Given the description of an element on the screen output the (x, y) to click on. 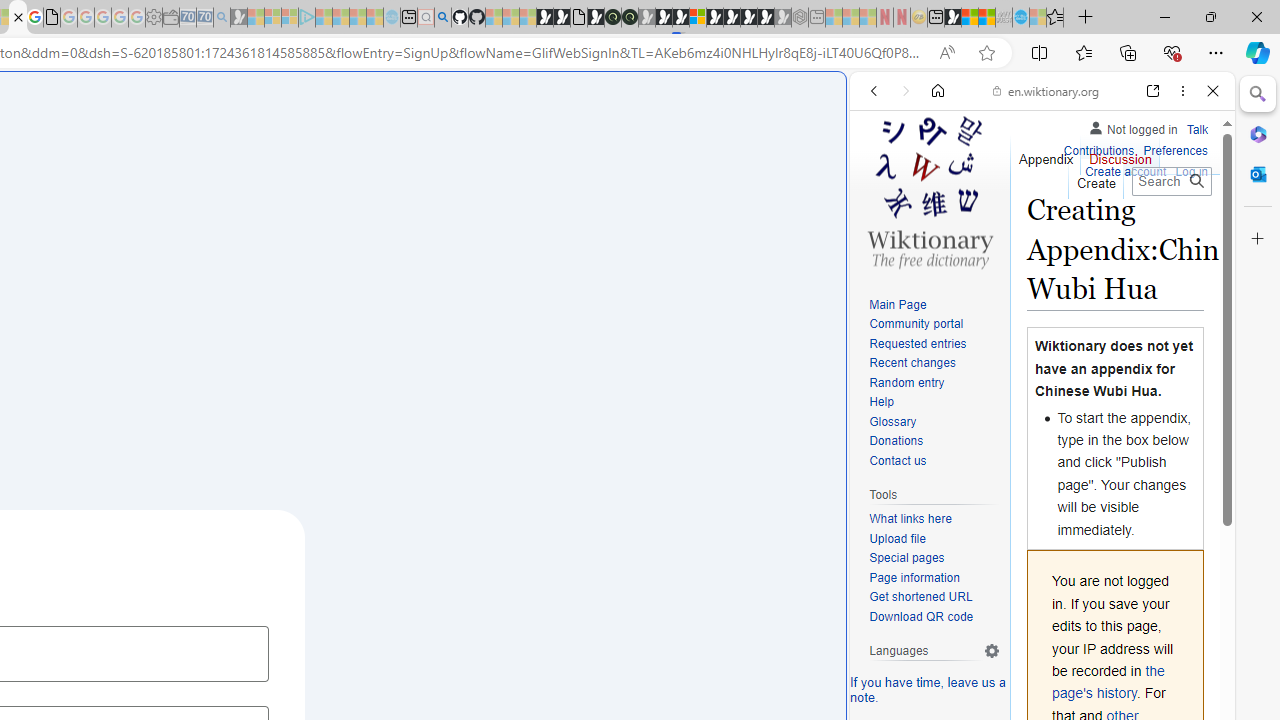
en.wiktionary.org (1046, 90)
Random entry (906, 382)
Search Wiktionary (1171, 181)
Main Page (897, 303)
Get shortened URL (934, 597)
Future Focus Report 2024 (629, 17)
Requested entries (917, 343)
